Given the description of an element on the screen output the (x, y) to click on. 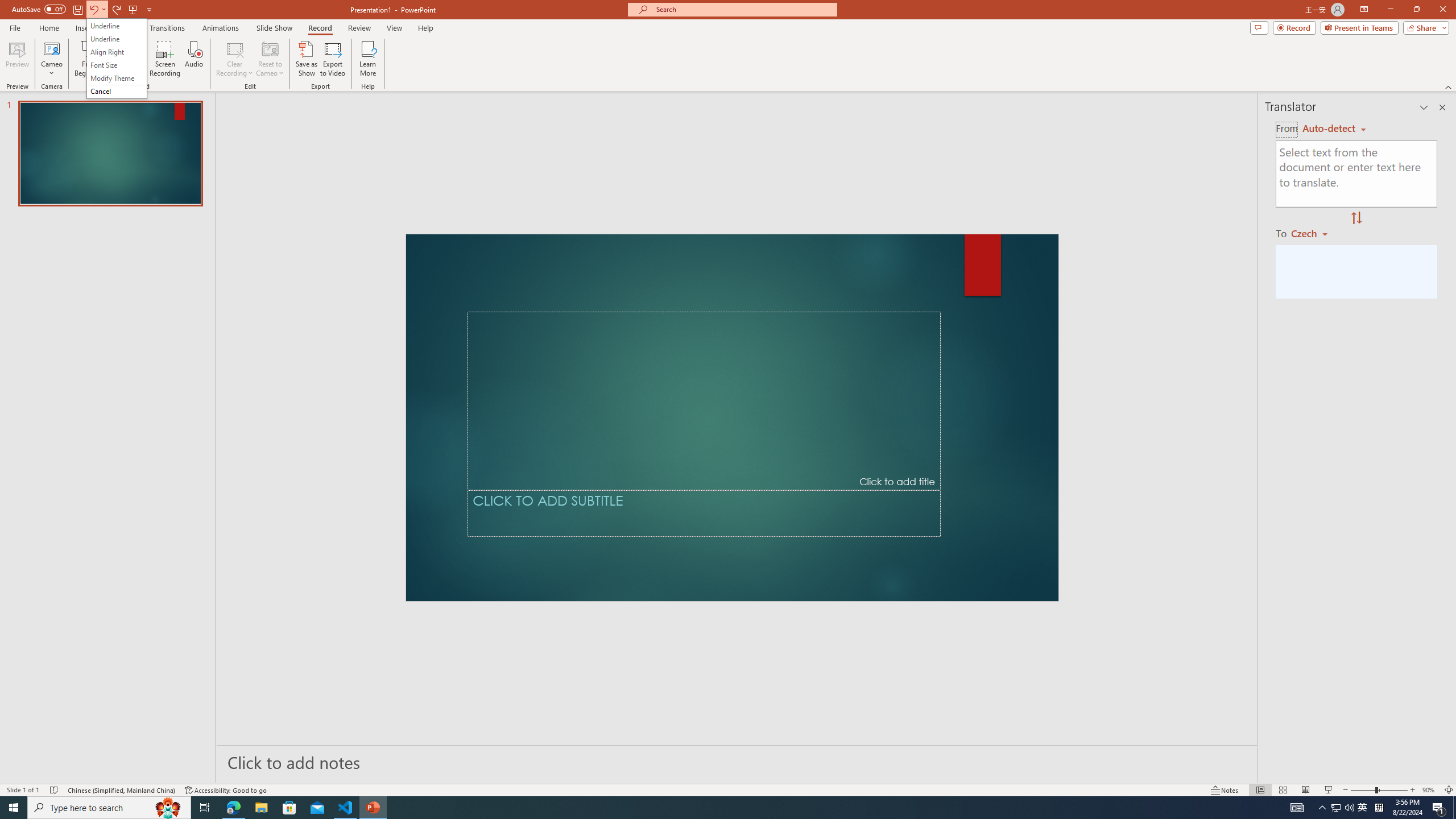
Screen Recording (165, 58)
&Undo (116, 58)
